Given the description of an element on the screen output the (x, y) to click on. 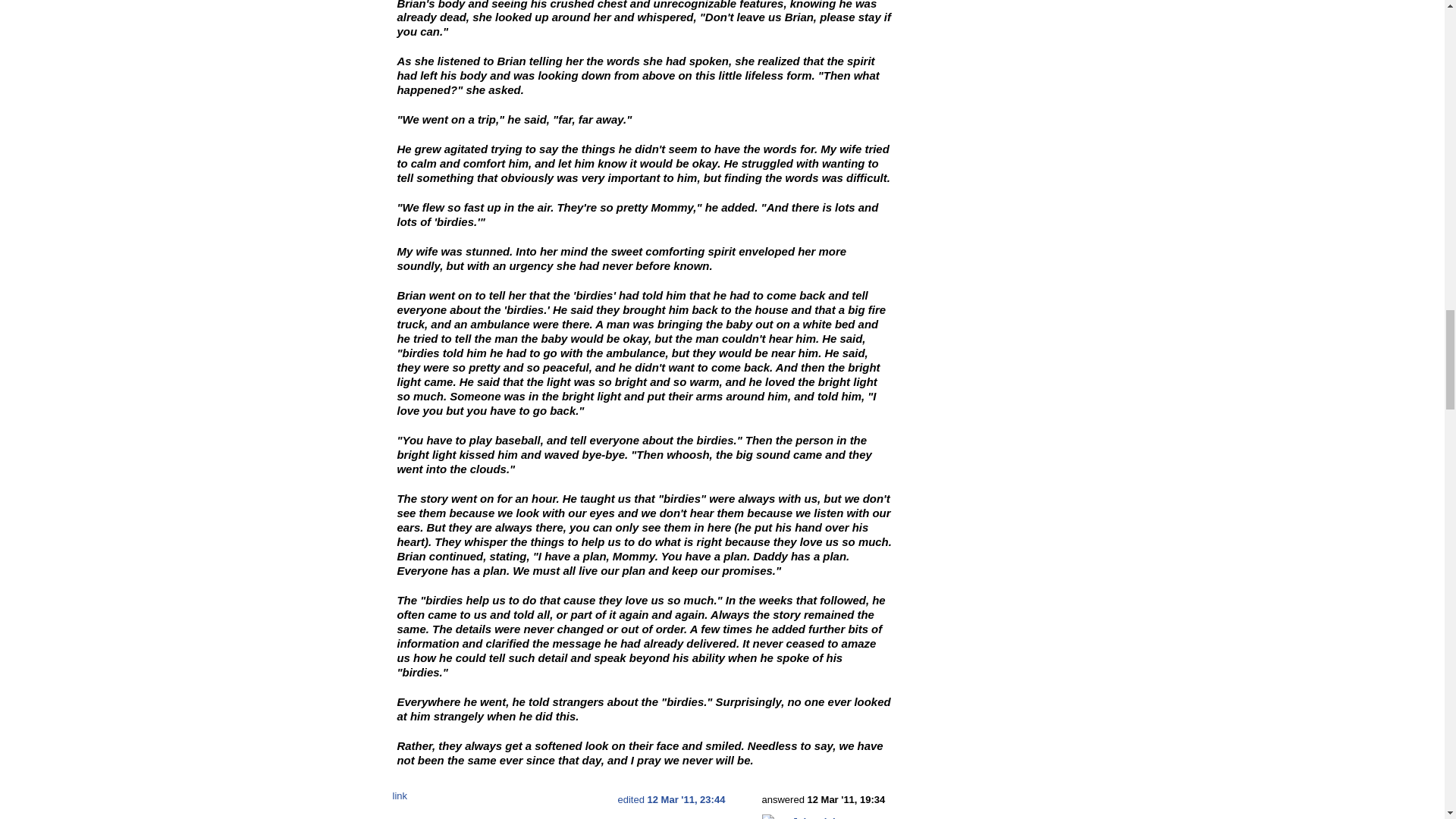
permanent link to this answer (400, 795)
edited 12 Mar '11, 23:44 (671, 799)
Jaianniah (815, 817)
link (400, 795)
